Given the description of an element on the screen output the (x, y) to click on. 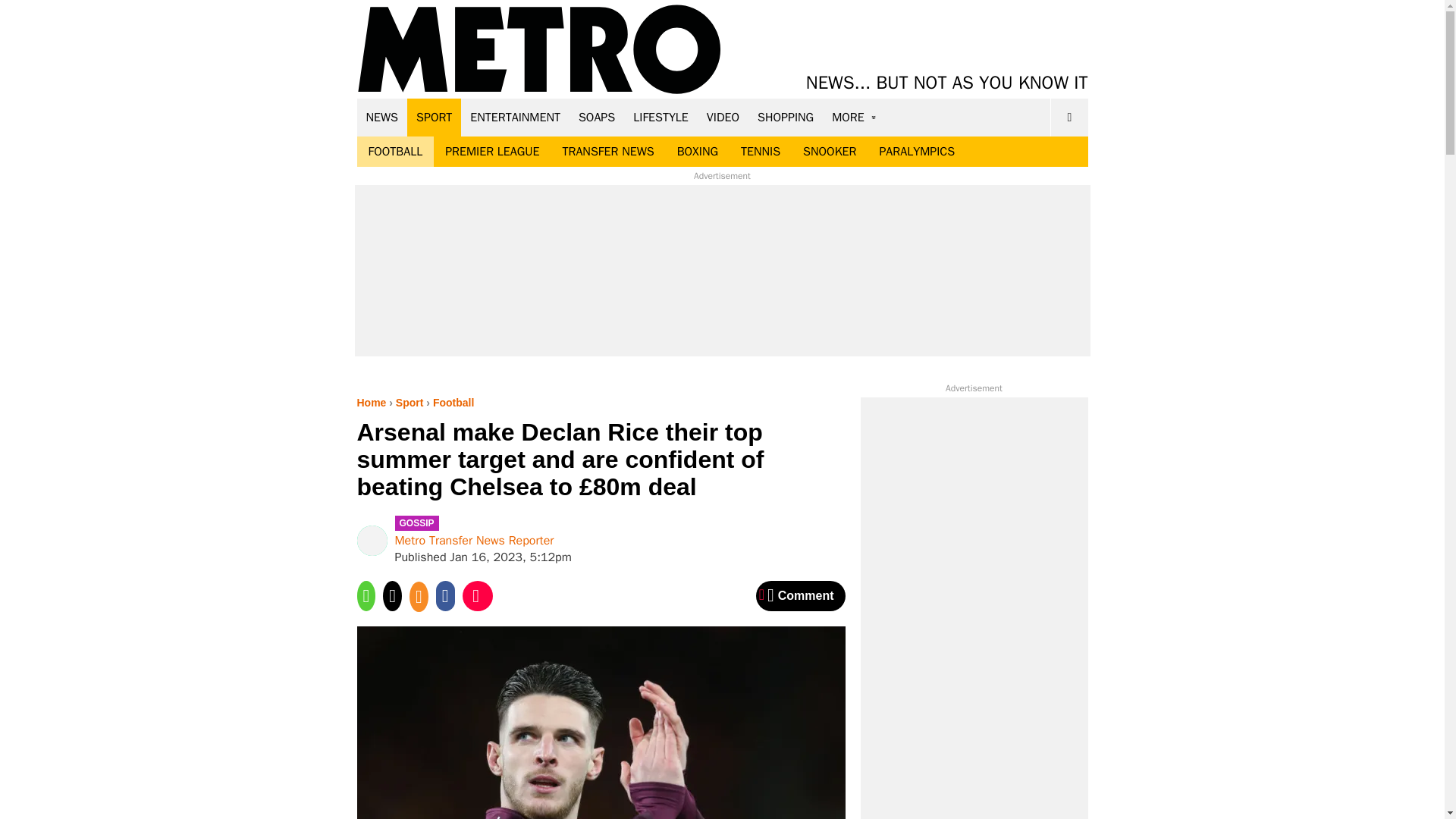
BOXING (697, 151)
Metro (539, 50)
ENTERTAINMENT (515, 117)
SNOOKER (829, 151)
LIFESTYLE (660, 117)
TRANSFER NEWS (607, 151)
PARALYMPICS (916, 151)
TENNIS (760, 151)
FOOTBALL (394, 151)
PREMIER LEAGUE (491, 151)
